Given the description of an element on the screen output the (x, y) to click on. 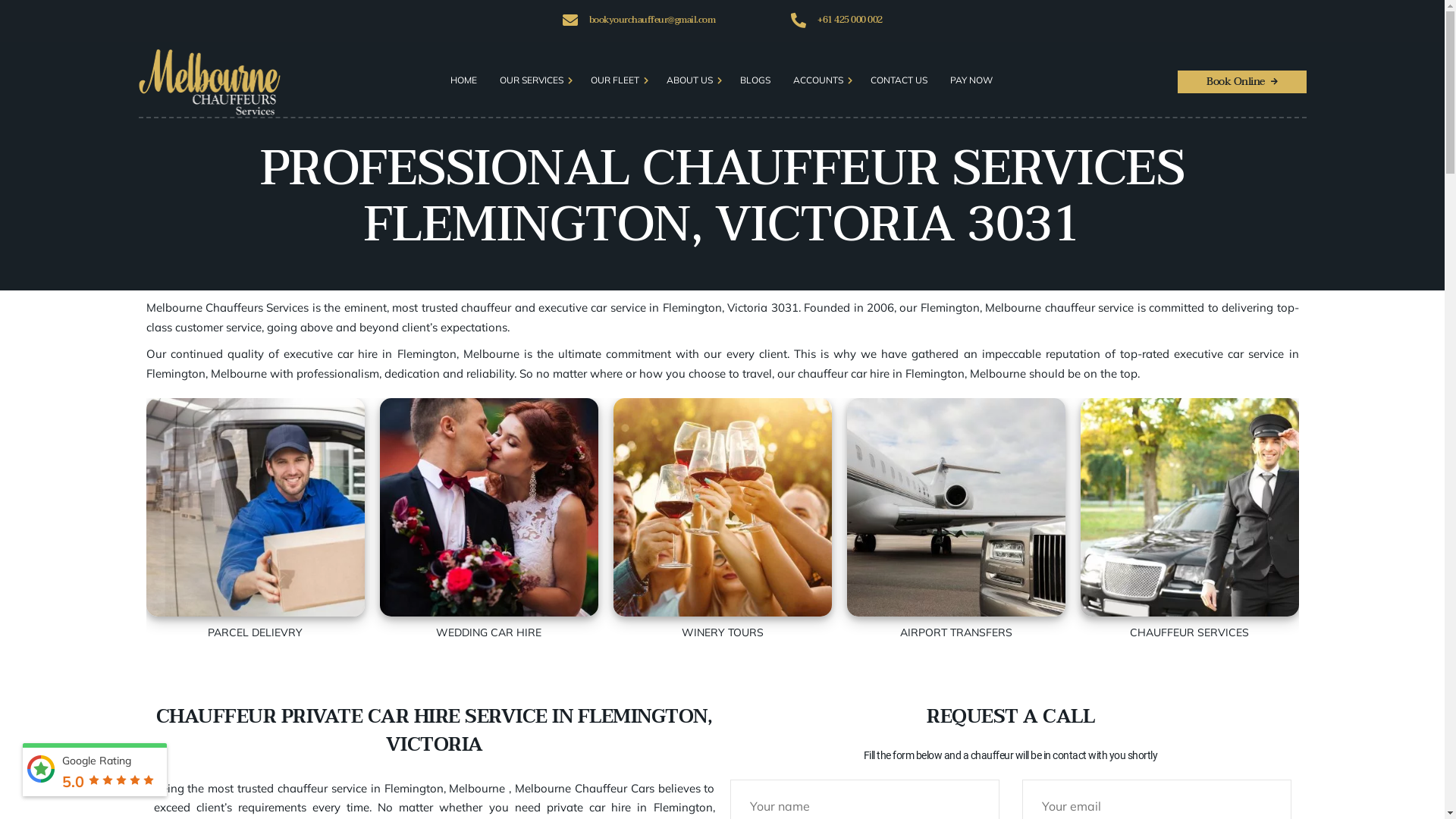
ACCOUNTS Element type: text (817, 79)
HOME Element type: text (463, 79)
PARCEL DELIEVRY Element type: text (254, 520)
BLOGS Element type: text (754, 79)
WINERY TOURS Element type: text (721, 520)
CONTACT US Element type: text (898, 79)
WEDDING CAR HIRE Element type: text (488, 520)
OUR FLEET Element type: text (614, 79)
PAY NOW Element type: text (971, 79)
ABOUT US Element type: text (689, 79)
+61 425 000 002 Element type: text (849, 19)
Book Online Element type: text (1240, 81)
OUR SERVICES Element type: text (531, 79)
AIRPORT TRANSFERS Element type: text (955, 520)
bookyourchauffeur@gmail.com Element type: text (651, 19)
